Given the description of an element on the screen output the (x, y) to click on. 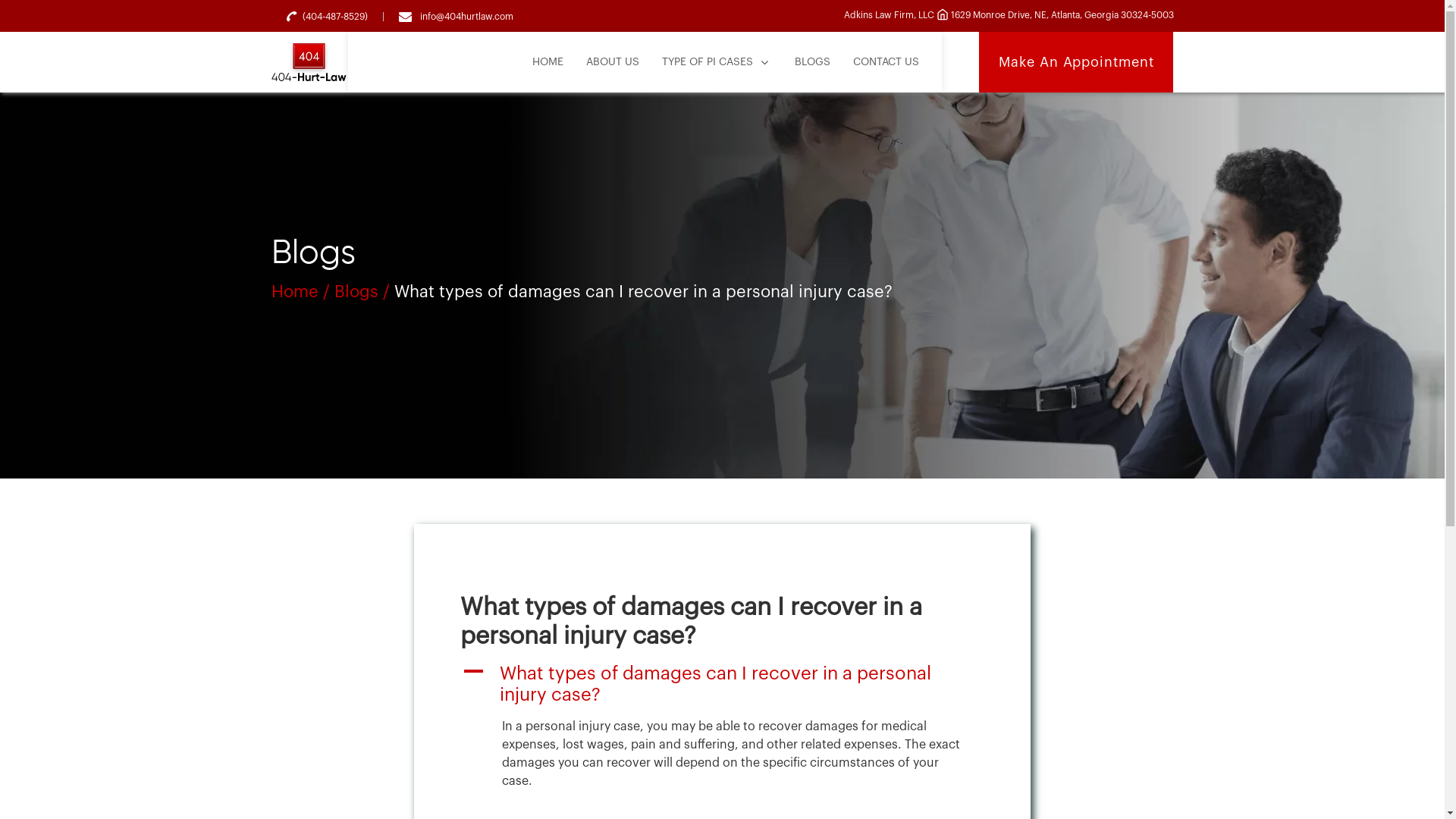
ABOUT US Element type: text (612, 62)
Home Element type: text (294, 291)
Make An Appointment Element type: text (1076, 61)
Blogs Element type: text (355, 291)
CONTACT US Element type: text (886, 62)
TYPE OF PI CASES Element type: text (717, 62)
(404-487-8529) Element type: text (327, 16)
BLOGS Element type: text (812, 62)
HOME Element type: text (547, 62)
info@404hurtlaw.com Element type: text (455, 16)
